Given the description of an element on the screen output the (x, y) to click on. 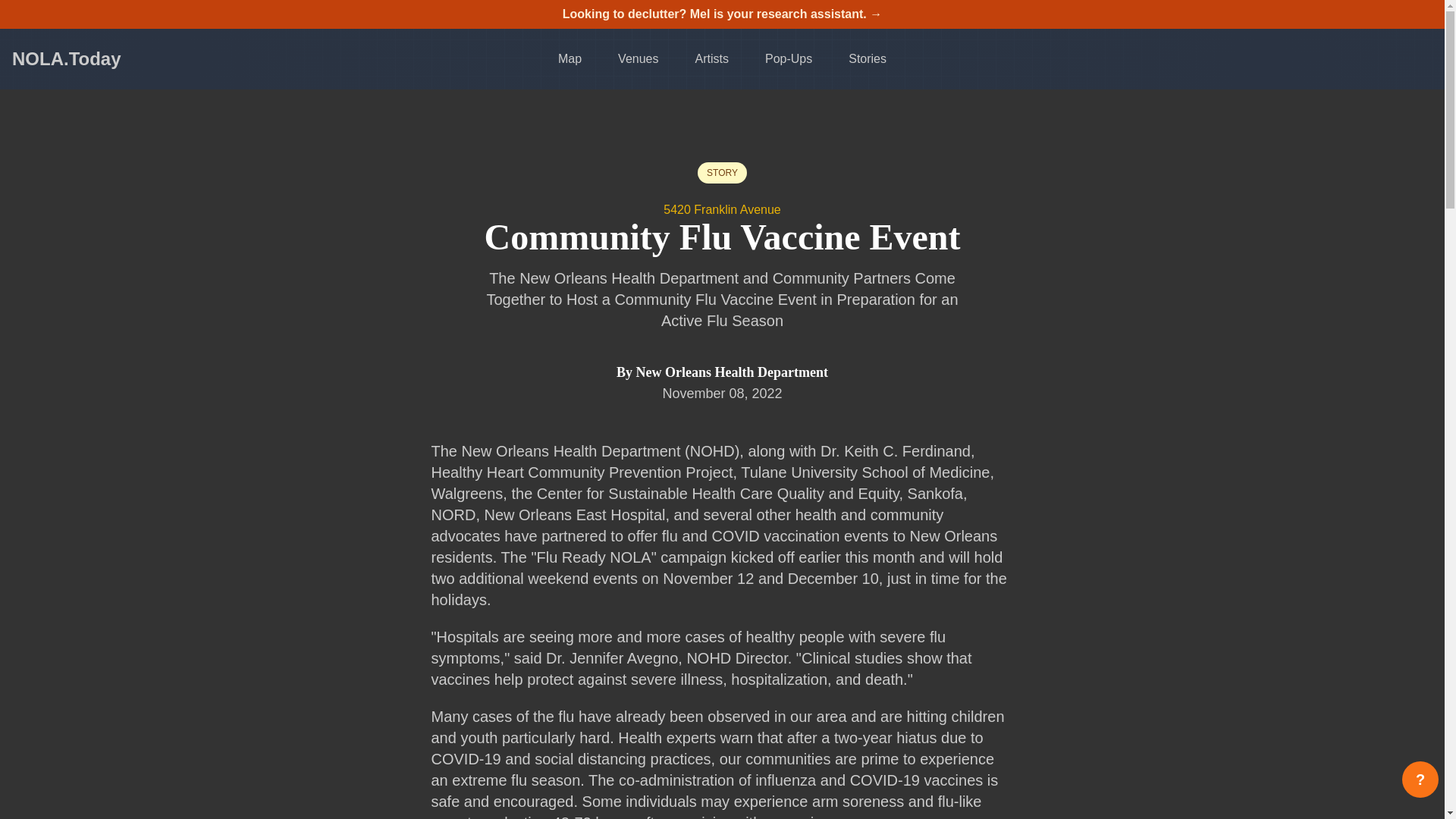
Venues (637, 58)
Stories (867, 58)
NOLA.Today (65, 58)
? (1420, 779)
Map (568, 58)
Artists (711, 58)
Pop-Ups (788, 58)
